Given the description of an element on the screen output the (x, y) to click on. 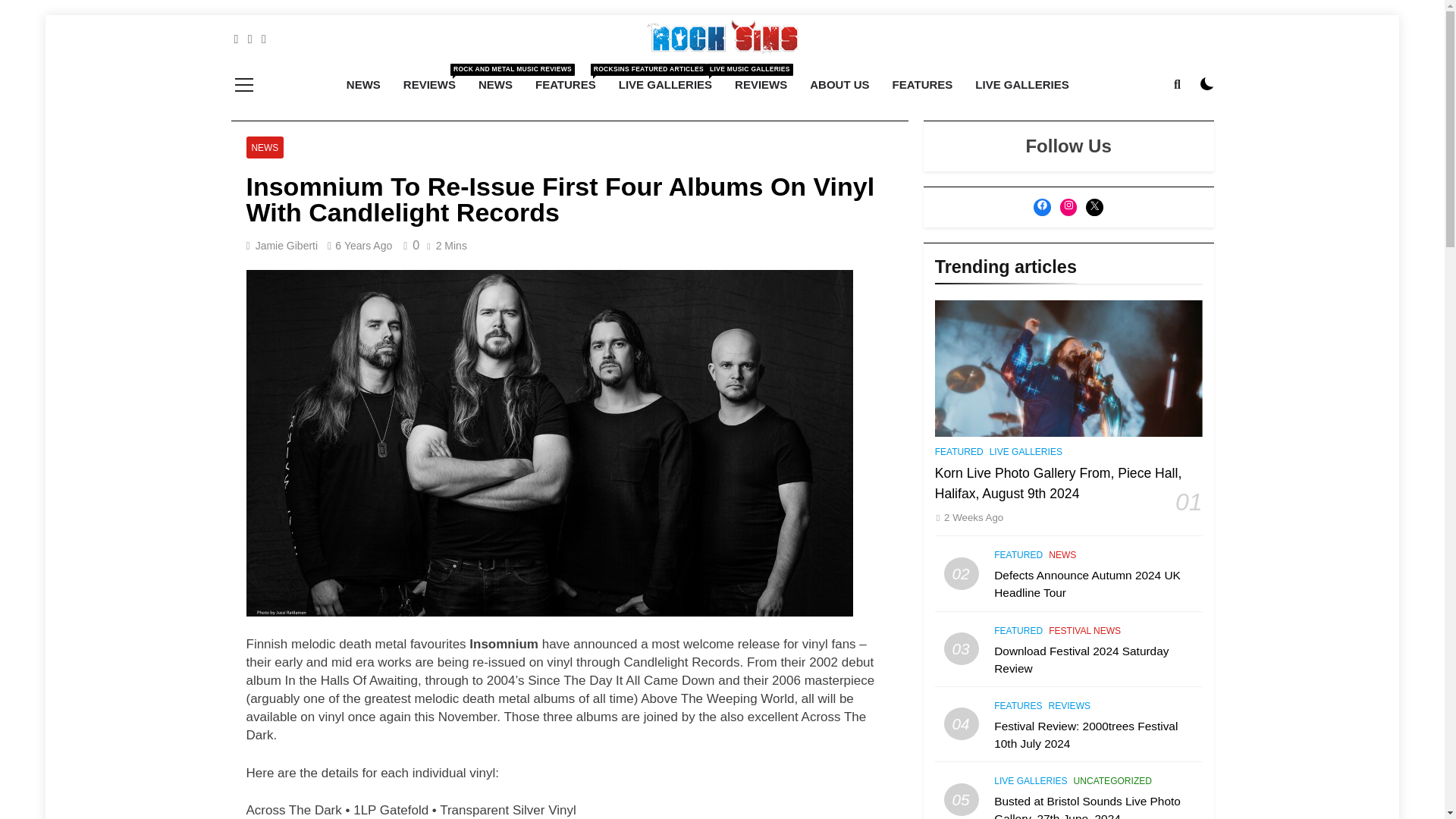
Skip to content (665, 84)
Jamie Giberti (760, 84)
NEWS (286, 245)
ABOUT US (264, 147)
FEATURES (838, 84)
6 Years Ago (921, 84)
on (362, 245)
